Given the description of an element on the screen output the (x, y) to click on. 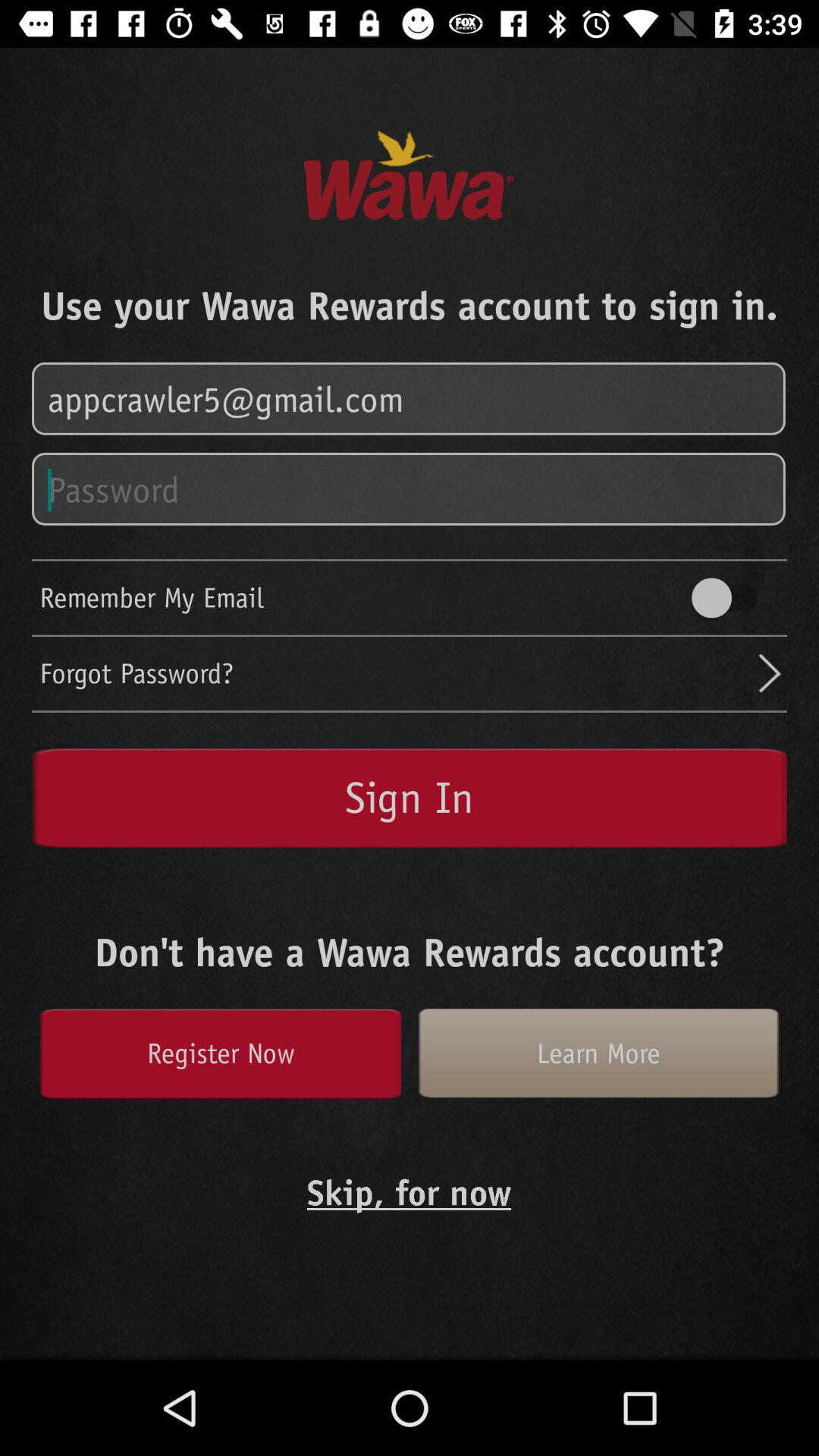
launch the icon below the don t have item (598, 1053)
